Given the description of an element on the screen output the (x, y) to click on. 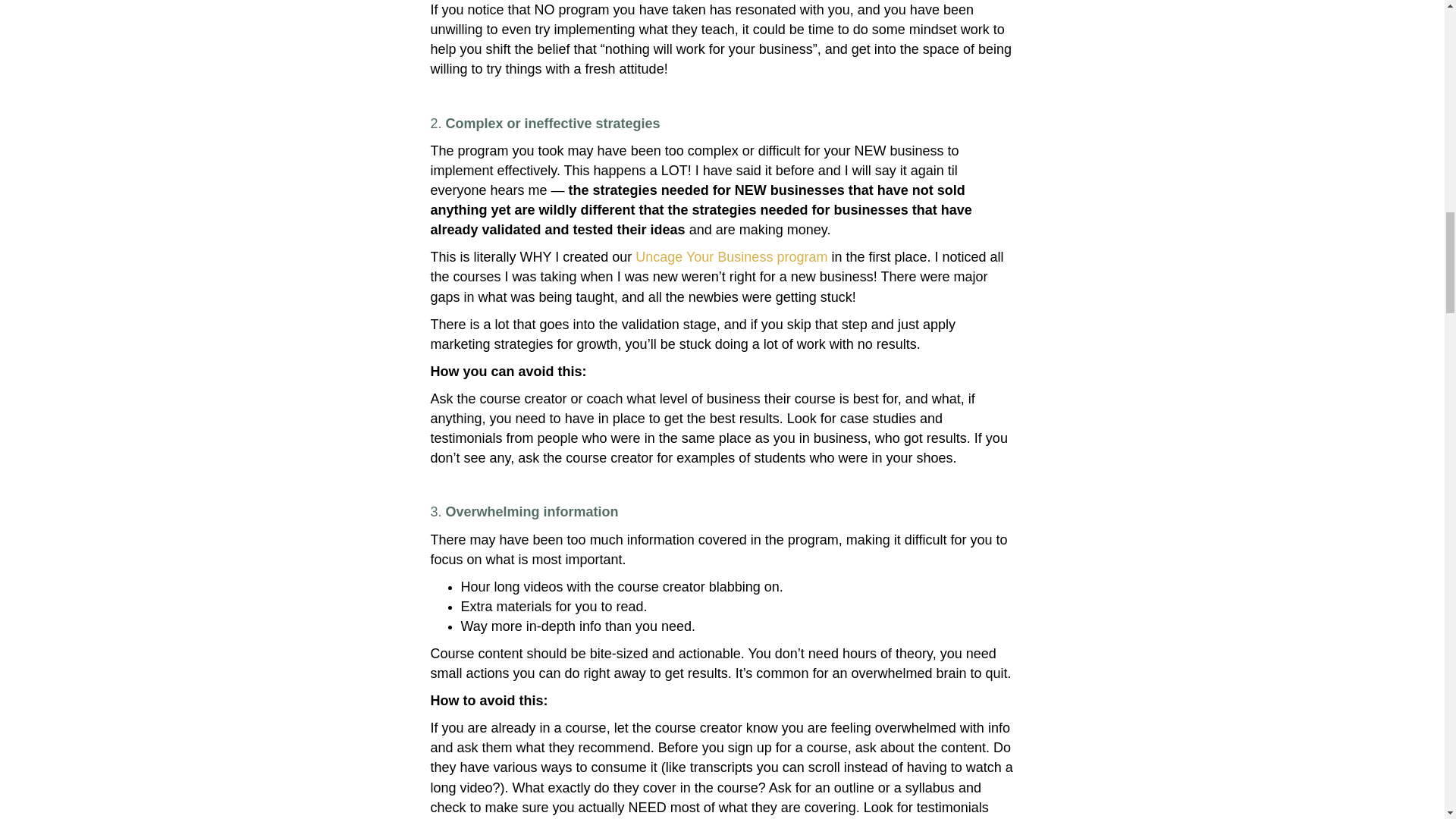
Uncage Your Business program (730, 256)
